Given the description of an element on the screen output the (x, y) to click on. 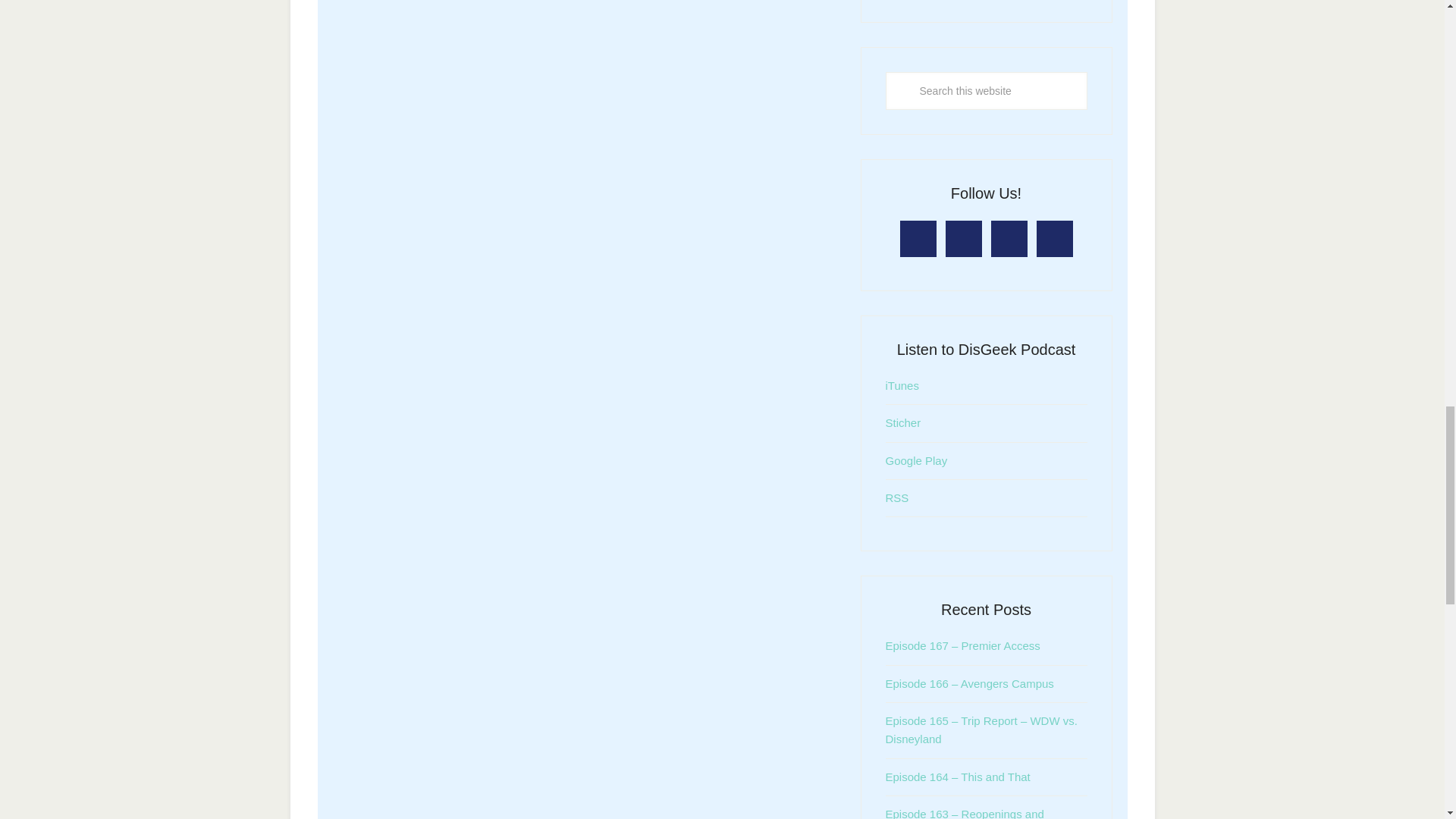
Google Play (916, 459)
iTunes (901, 385)
RSS (896, 497)
Sticher (903, 422)
